Given the description of an element on the screen output the (x, y) to click on. 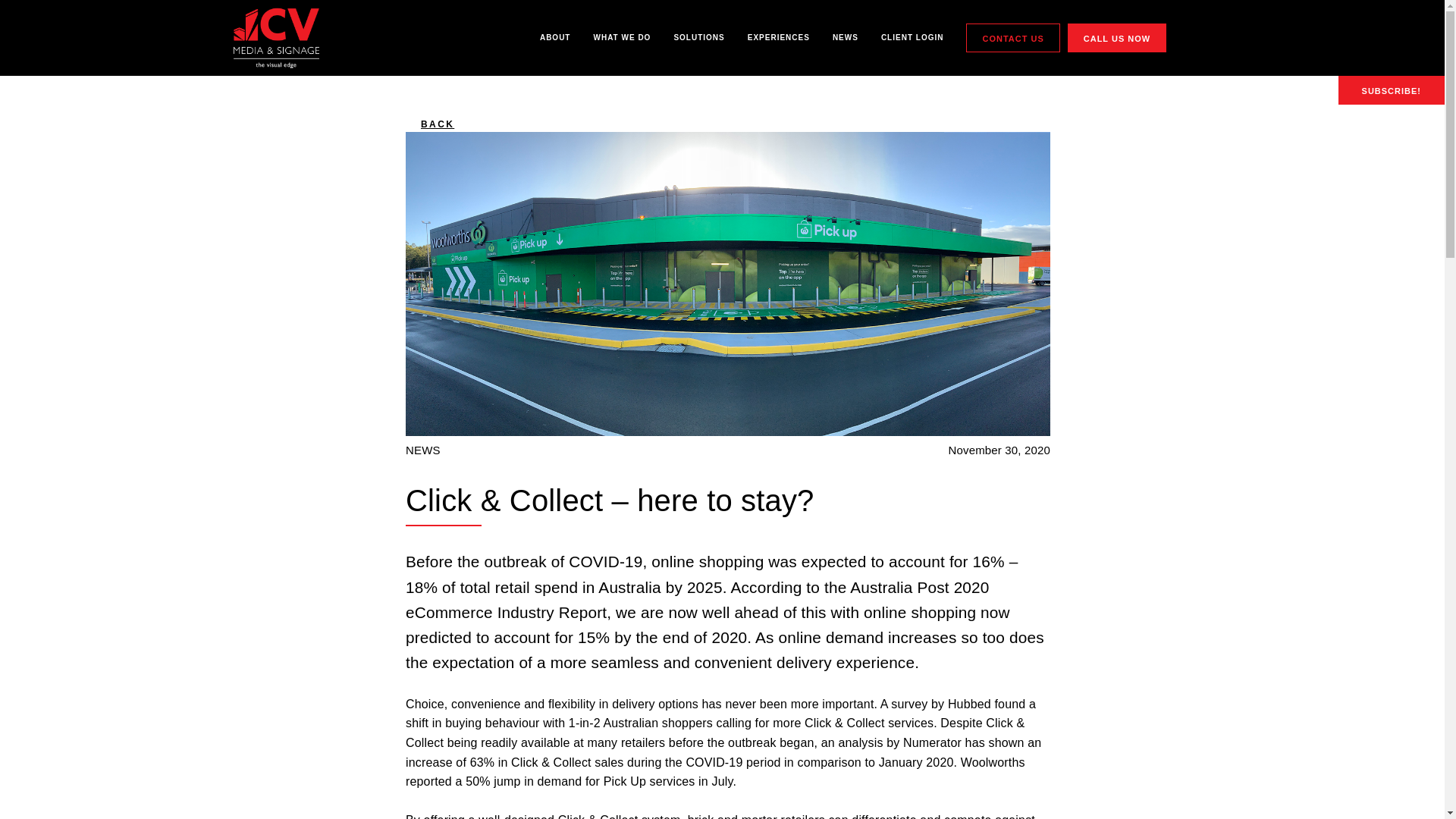
SUBSCRIBE! Element type: text (1391, 89)
EXPERIENCES Element type: text (778, 37)
CONTACT US Element type: text (1012, 38)
BACK Element type: text (727, 124)
CALL US NOW Element type: text (1116, 38)
ABOUT Element type: text (555, 37)
CLIENT LOGIN Element type: text (912, 37)
NEWS Element type: text (845, 37)
WHAT WE DO Element type: text (621, 37)
SOLUTIONS Element type: text (698, 37)
